Given the description of an element on the screen output the (x, y) to click on. 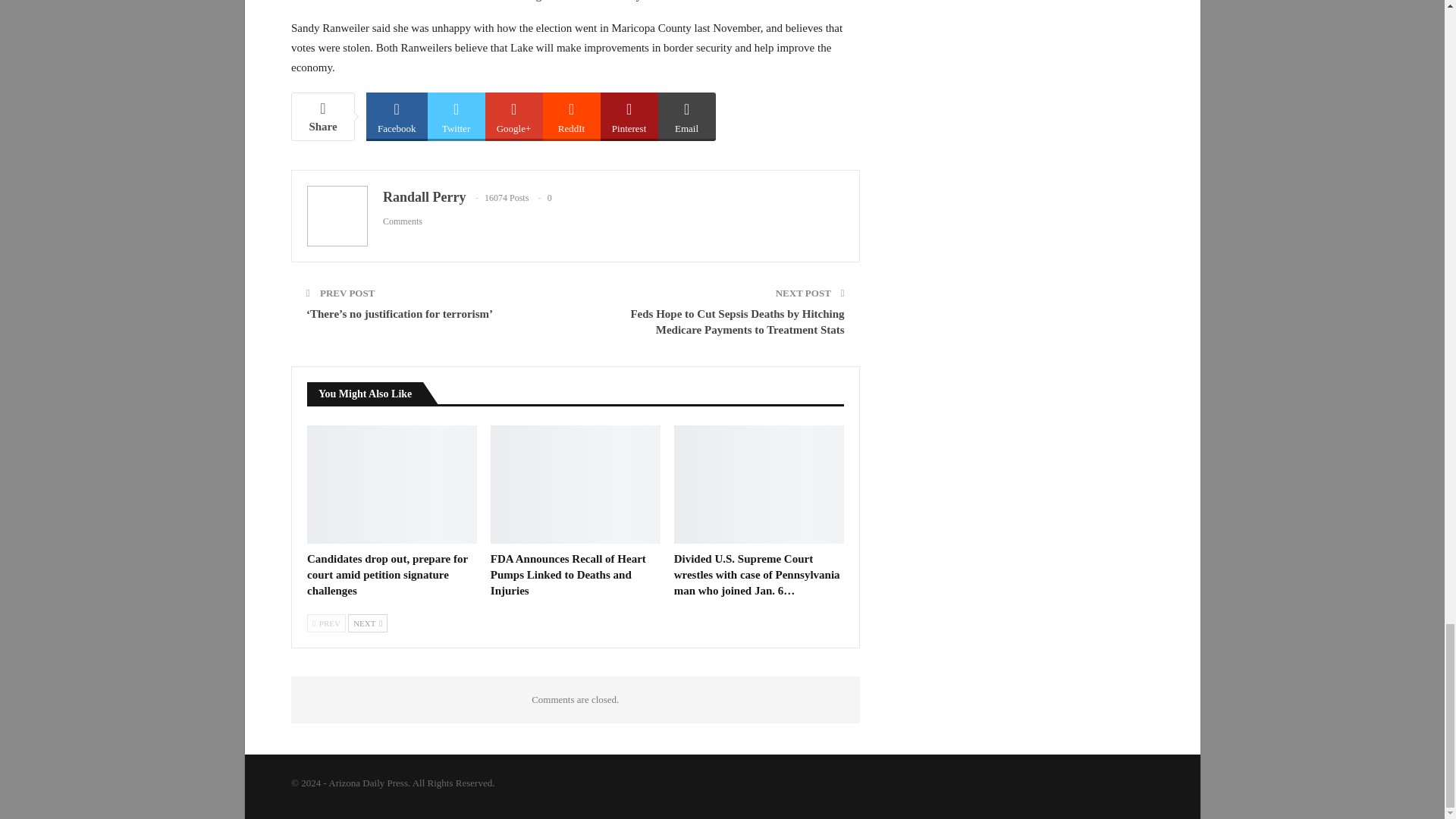
Previous (326, 623)
ReddIt (571, 115)
Twitter (456, 115)
Randall Perry (423, 196)
Facebook (397, 115)
Next (367, 623)
